Given the description of an element on the screen output the (x, y) to click on. 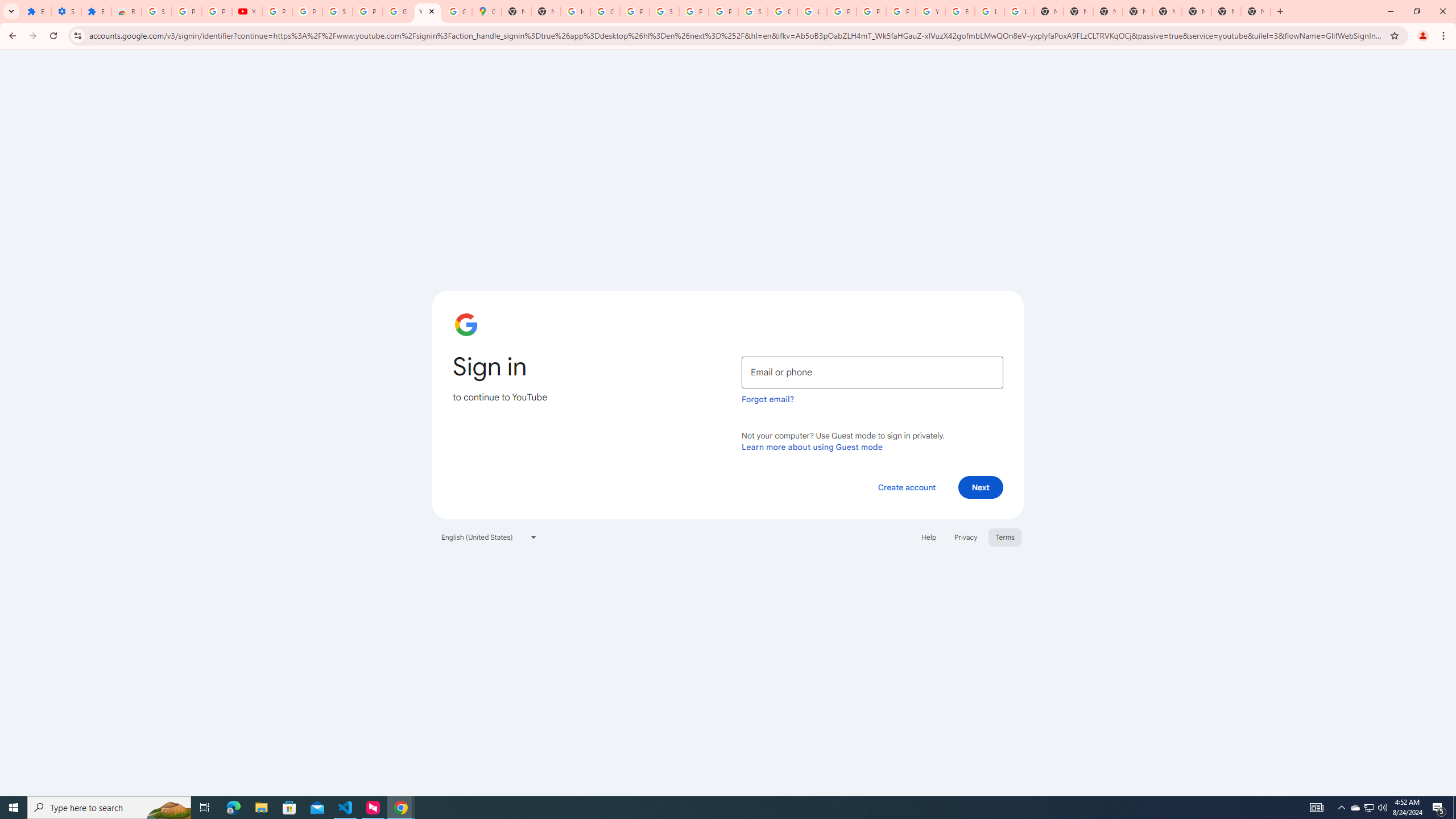
https://scholar.google.com/ (575, 11)
Sign in - Google Accounts (156, 11)
Google Account (397, 11)
Create account (905, 486)
Sign in - Google Accounts (753, 11)
Google Maps (486, 11)
